Given the description of an element on the screen output the (x, y) to click on. 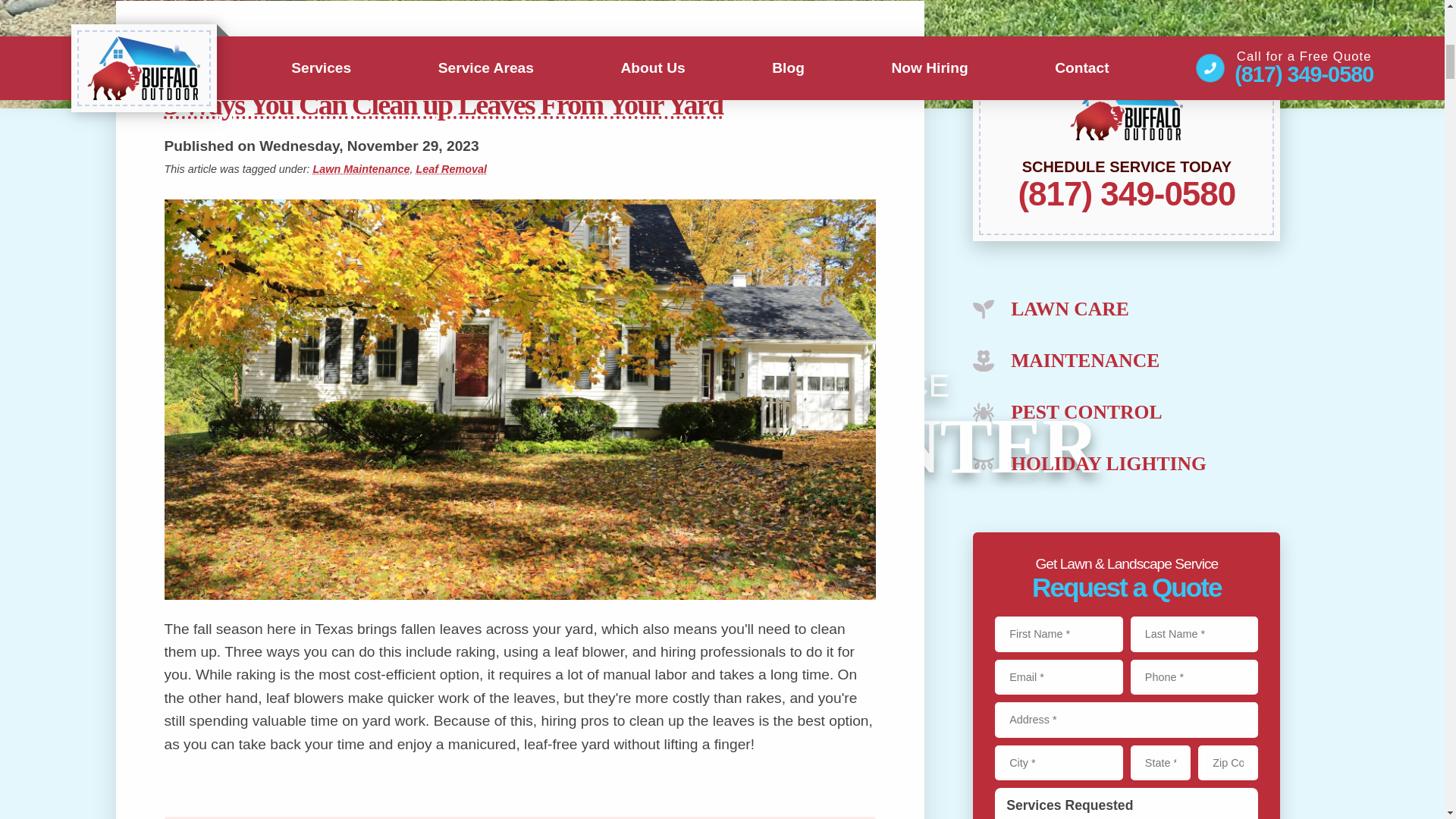
3 Ways You Can Clean up Leaves From Your Yard (519, 104)
